Given the description of an element on the screen output the (x, y) to click on. 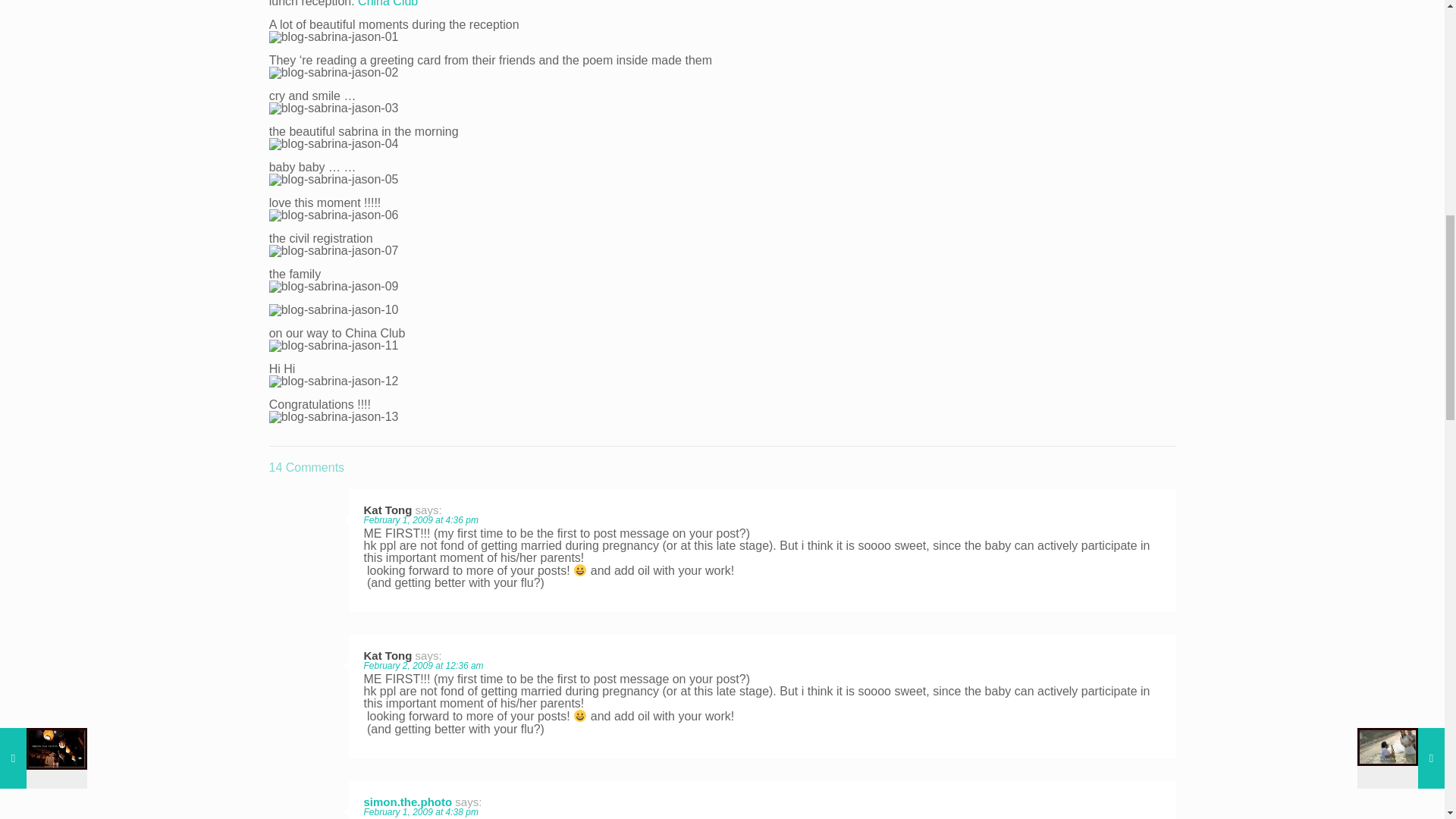
wedding of sabrina and jason 9 (333, 108)
wedding of sabrina and jason 16 (333, 345)
February 1, 2009 at 4:36 pm (421, 520)
wedding of sabrina and jason 13 (333, 250)
February 2, 2009 at 12:36 am (423, 665)
wedding of sabrina and jason 7 (333, 37)
wedding of sabrina and jason 12 (333, 215)
wedding of sabrina and jason 18 (333, 417)
February 1, 2009 at 4:38 pm (421, 811)
wedding of sabrina and jason 11 (333, 179)
